Given the description of an element on the screen output the (x, y) to click on. 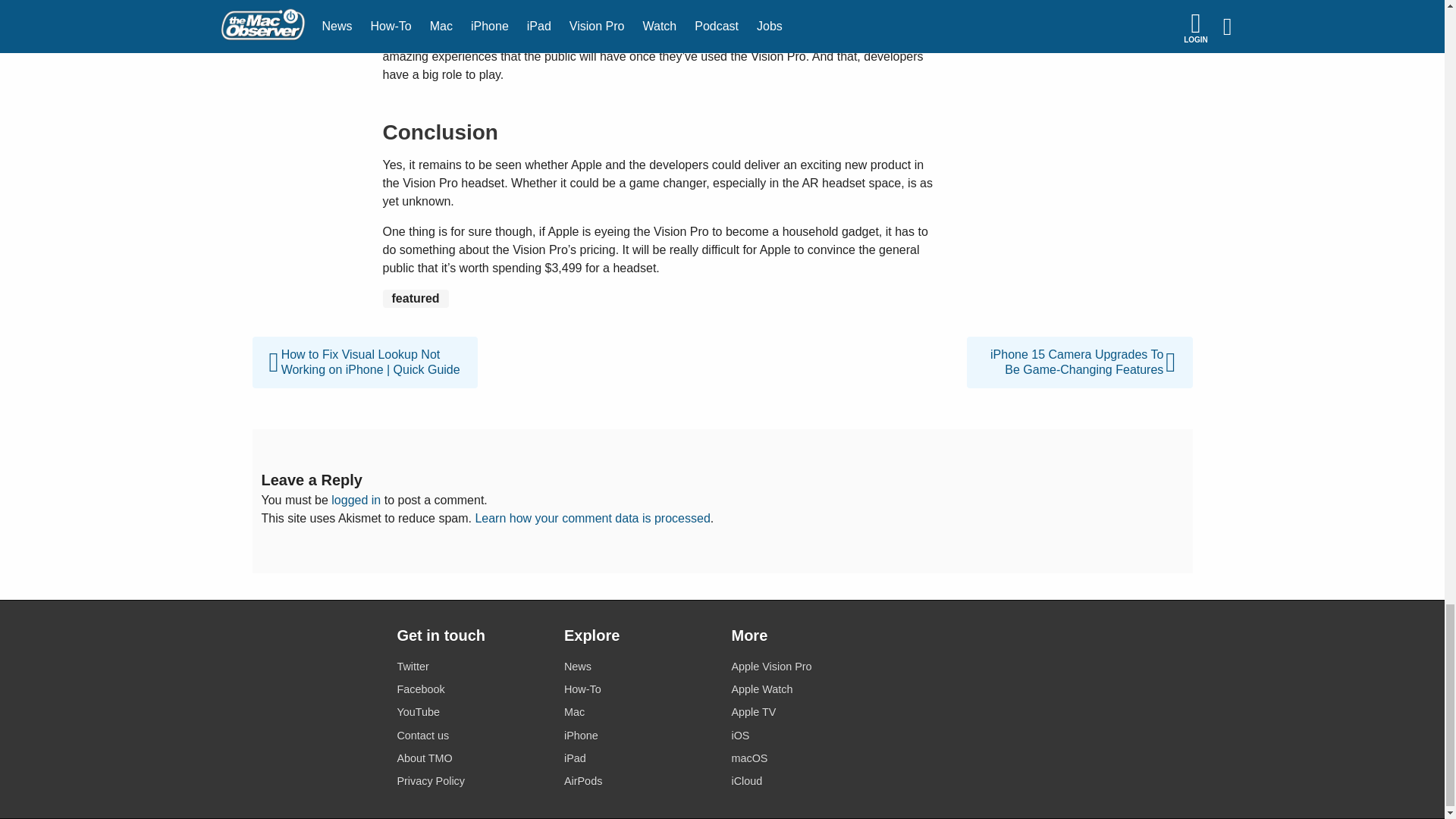
Contact us (471, 735)
iPhone (638, 735)
Privacy Policy (471, 781)
Twitter (471, 666)
News (638, 666)
YouTube (471, 711)
Facebook (471, 689)
About TMO (471, 758)
Apple TV (805, 711)
How-To (638, 689)
